Given the description of an element on the screen output the (x, y) to click on. 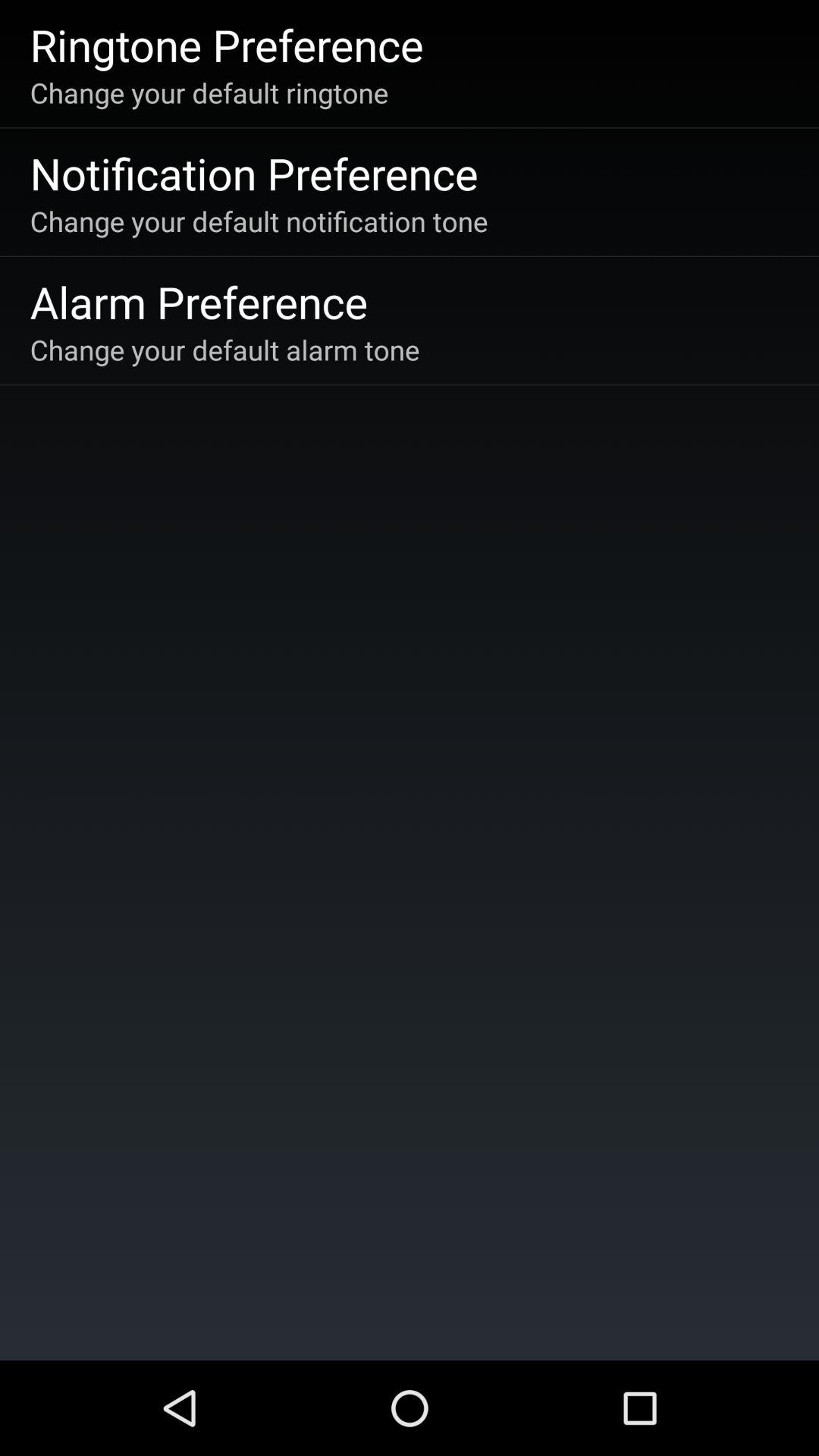
press icon above the change your default (254, 172)
